Given the description of an element on the screen output the (x, y) to click on. 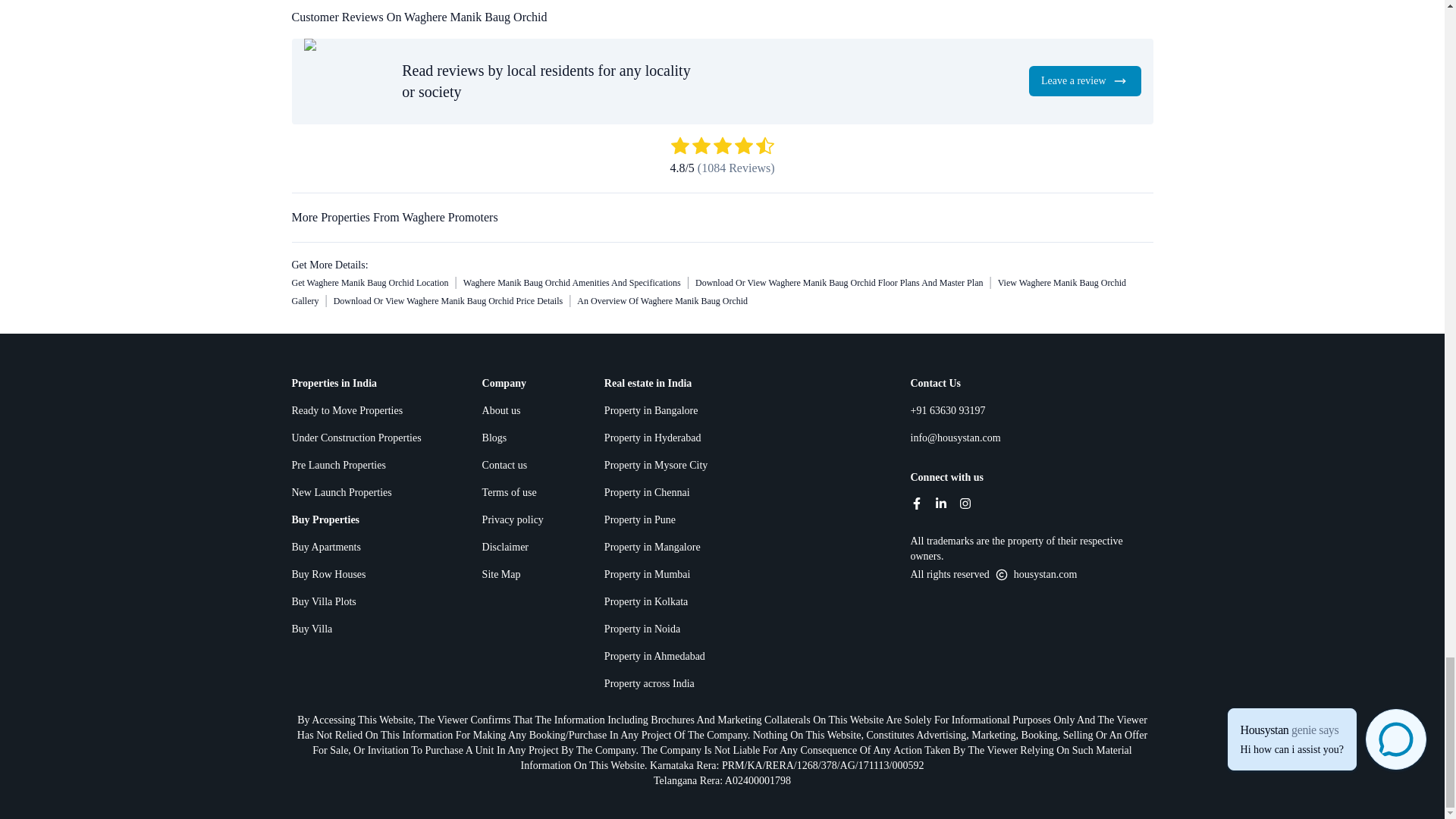
Linkedin (940, 503)
Get Waghere Manik Baug Orchid Location (369, 282)
Facebook (915, 503)
Download Or View Waghere Manik Baug Orchid Price Details (447, 300)
Waghere Manik Baug Orchid Amenities And Specifications (572, 282)
instagram (964, 503)
View Waghere Manik Baug Orchid Gallery (708, 291)
